Given the description of an element on the screen output the (x, y) to click on. 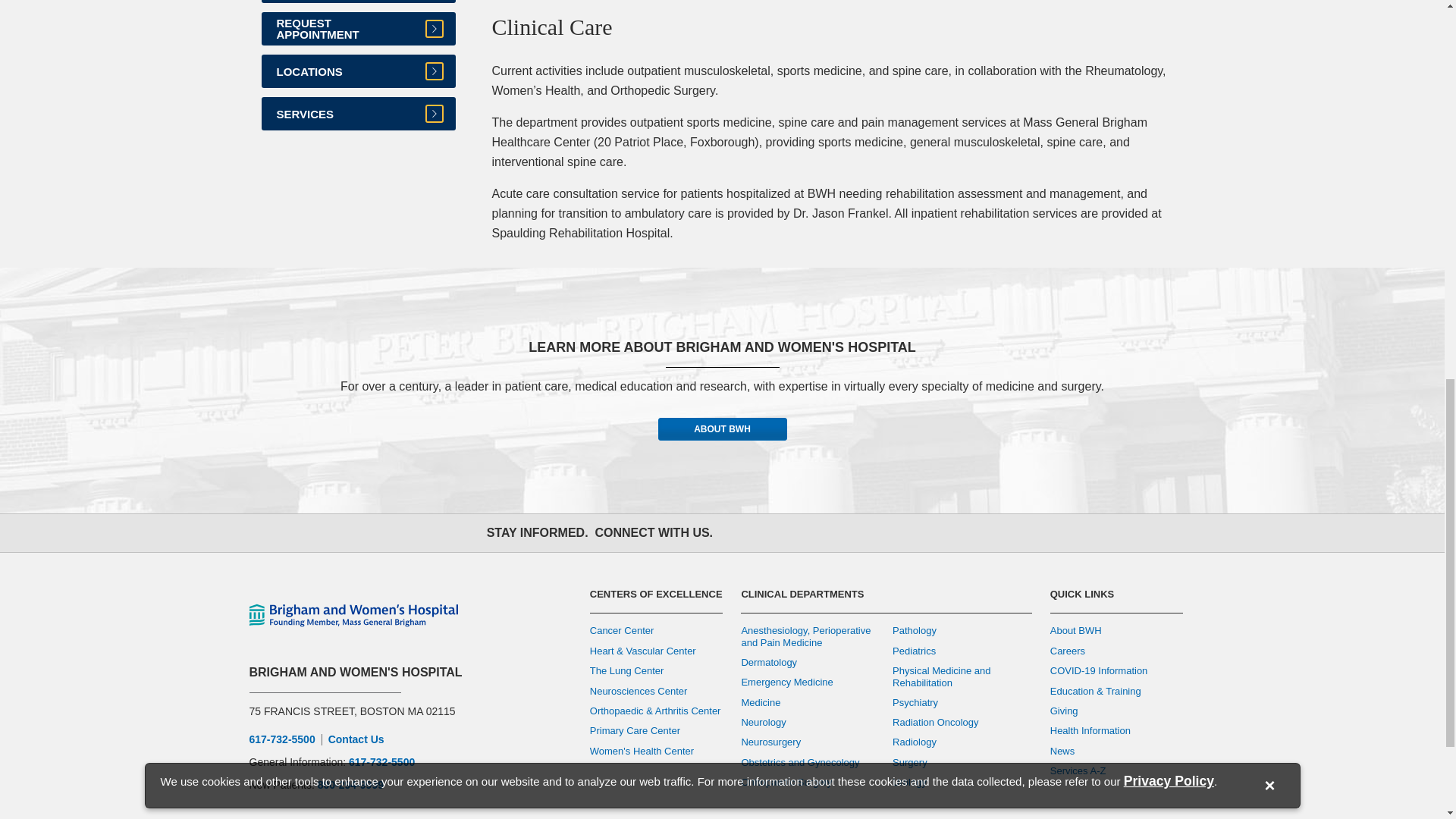
LinkedIn (871, 532)
FIND A DOCTOR (357, 1)
LOCATIONS (357, 70)
Facebook (738, 532)
Newsroom (905, 532)
Instagram (804, 532)
YouTube (838, 532)
SERVICES (357, 113)
Instagram (804, 532)
YouTube (838, 532)
ABOUT BWH (722, 428)
REQUEST APPOINTMENT (357, 28)
Facebook (738, 532)
